Given the description of an element on the screen output the (x, y) to click on. 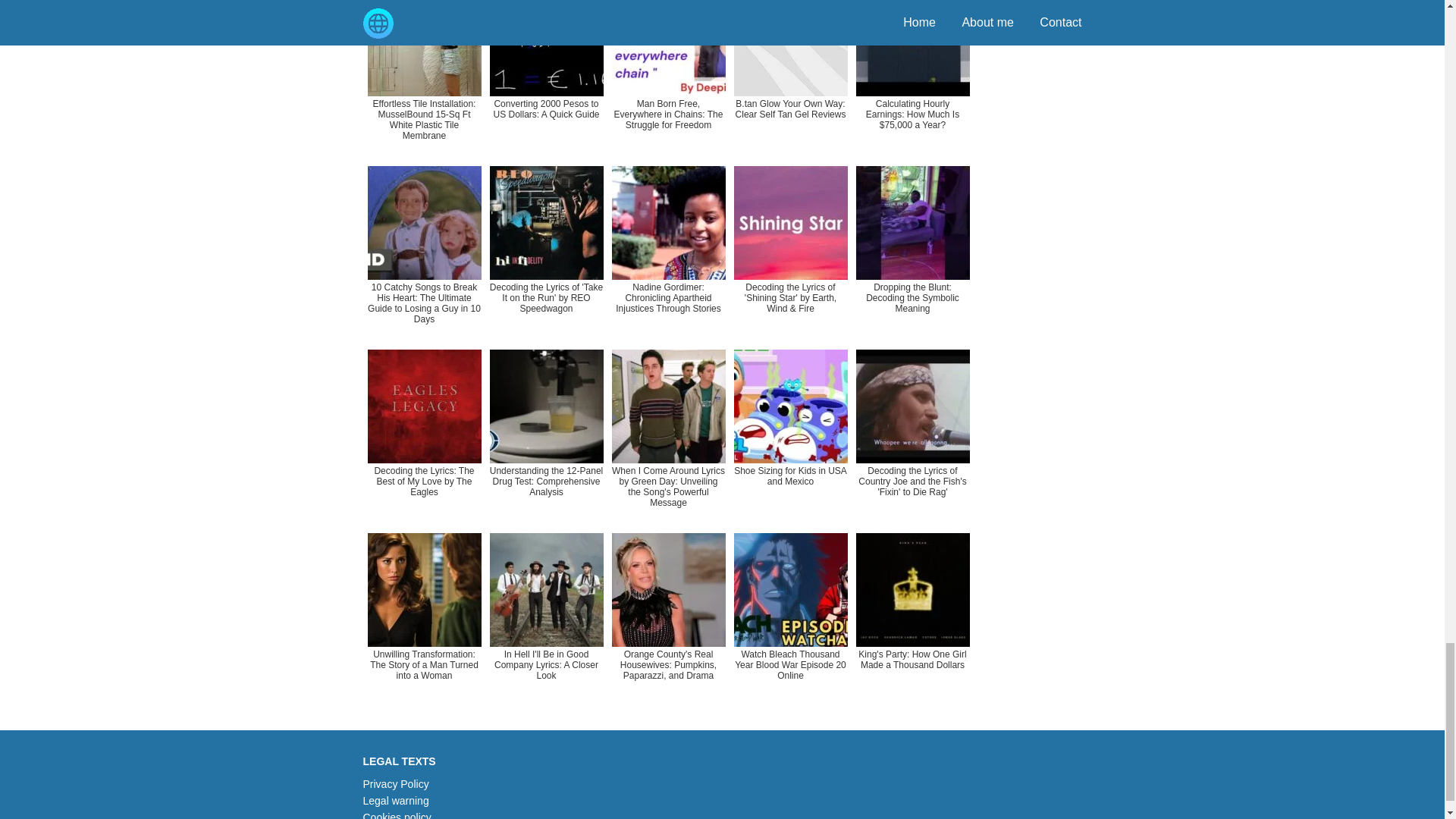
Cookies policy (396, 815)
Converting 2000 Pesos to US Dollars: A Quick Guide (546, 79)
In Hell I'll Be in Good Company Lyrics: A Closer Look (546, 618)
Dropping the Blunt: Decoding the Symbolic Meaning (912, 251)
Decoding the Lyrics: The Best of My Love by The Eagles (423, 434)
Privacy Policy (395, 784)
Legal warning (395, 800)
Shoe Sizing for Kids in USA and Mexico (790, 434)
Watch Bleach Thousand Year Blood War Episode 20 Online (790, 618)
